Given the description of an element on the screen output the (x, y) to click on. 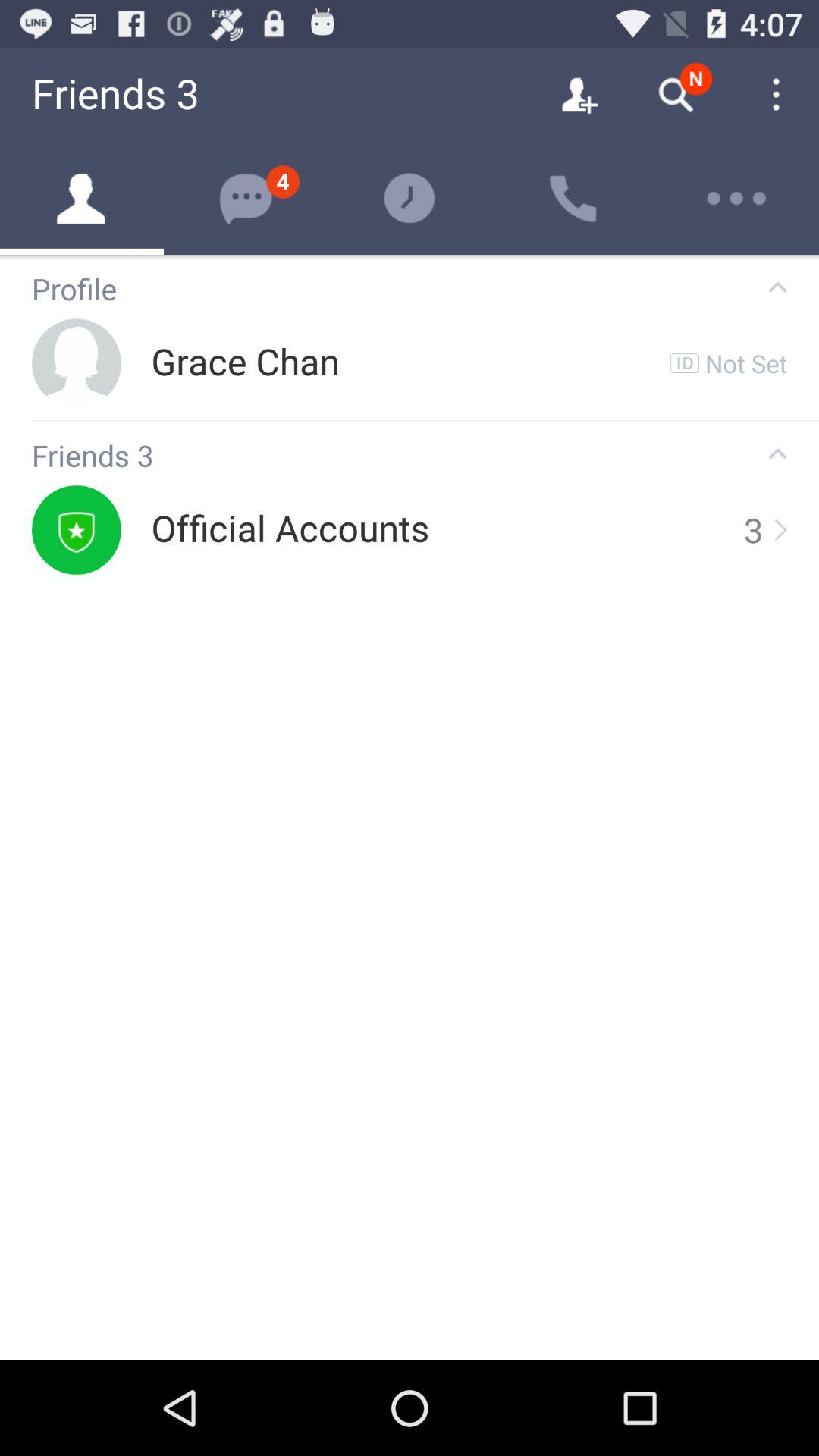
turn off the app next to 3 app (779, 529)
